Given the description of an element on the screen output the (x, y) to click on. 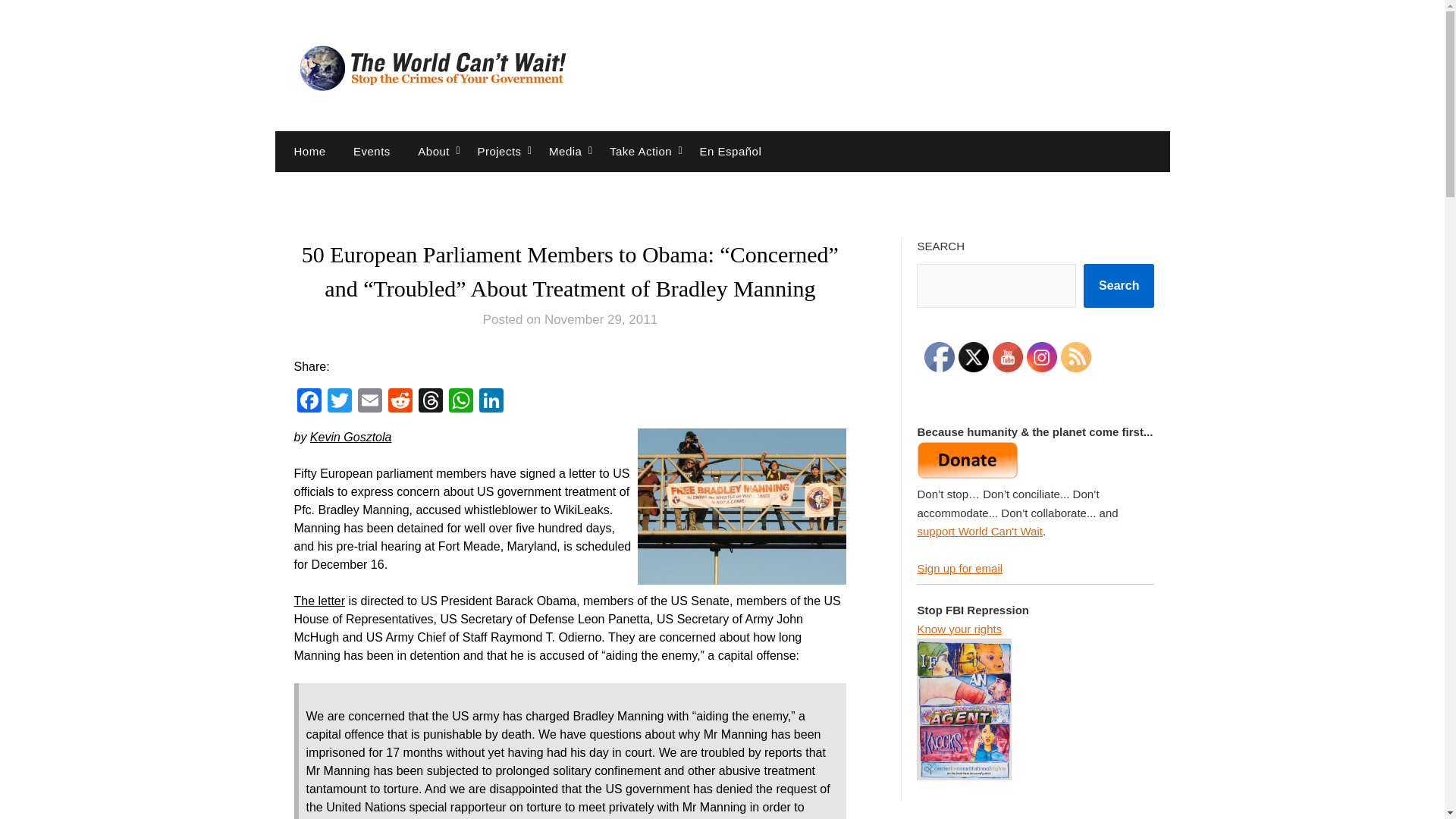
Instagram (1041, 357)
LinkedIn (491, 402)
YouTube (1007, 357)
Events (371, 151)
Take Action (640, 151)
Email (370, 402)
RSS (1075, 357)
Facebook (939, 357)
Threads (429, 402)
About (433, 151)
Facebook (309, 402)
Media (565, 151)
Twitter (339, 402)
Twitter (973, 357)
WhatsApp (460, 402)
